Given the description of an element on the screen output the (x, y) to click on. 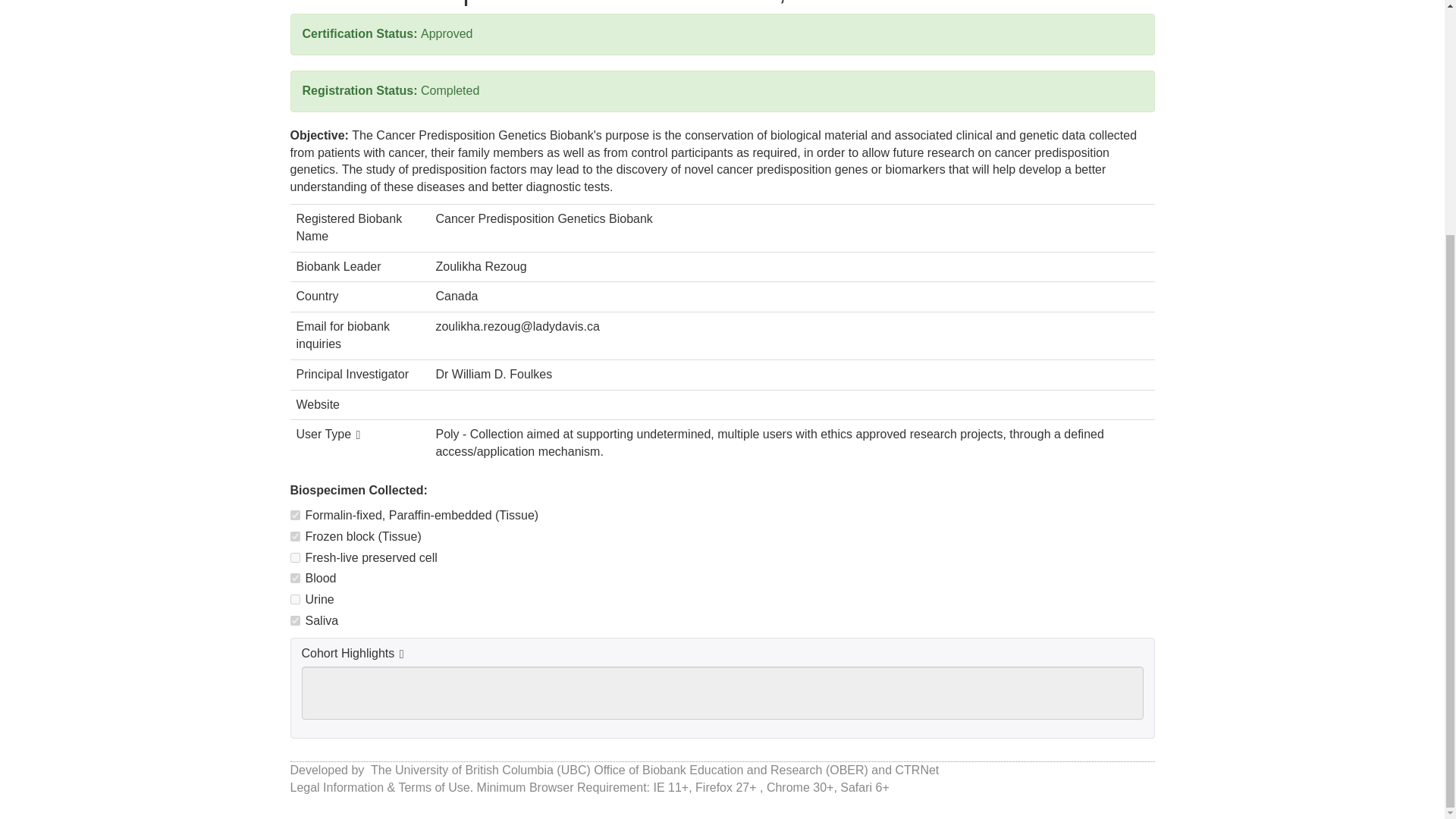
on (294, 578)
on (294, 515)
on (294, 536)
on (294, 557)
on (294, 599)
on (294, 620)
